Given the description of an element on the screen output the (x, y) to click on. 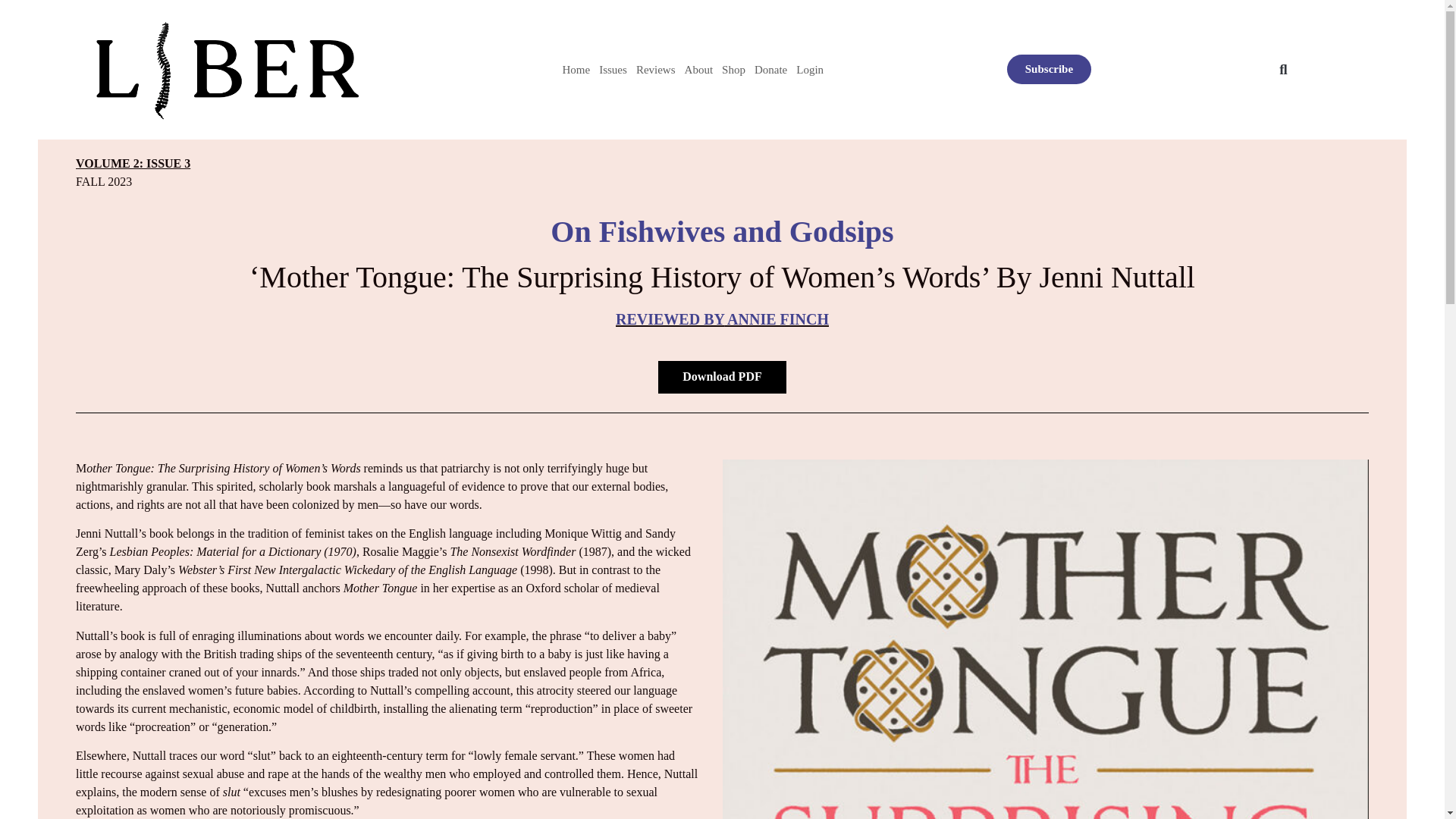
Donate (770, 69)
Reviews (655, 69)
